Given the description of an element on the screen output the (x, y) to click on. 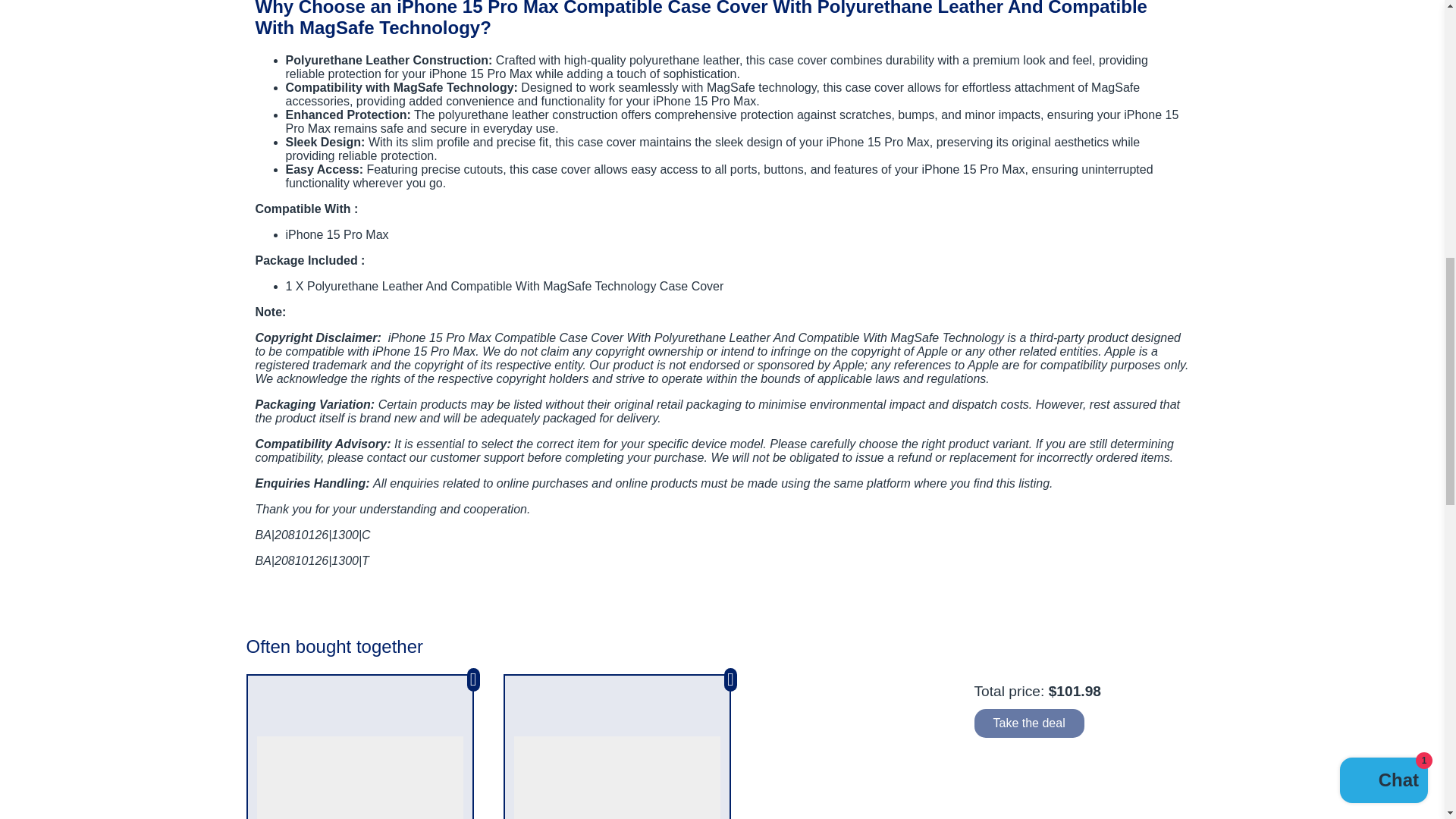
Take the deal (1028, 723)
